Given the description of an element on the screen output the (x, y) to click on. 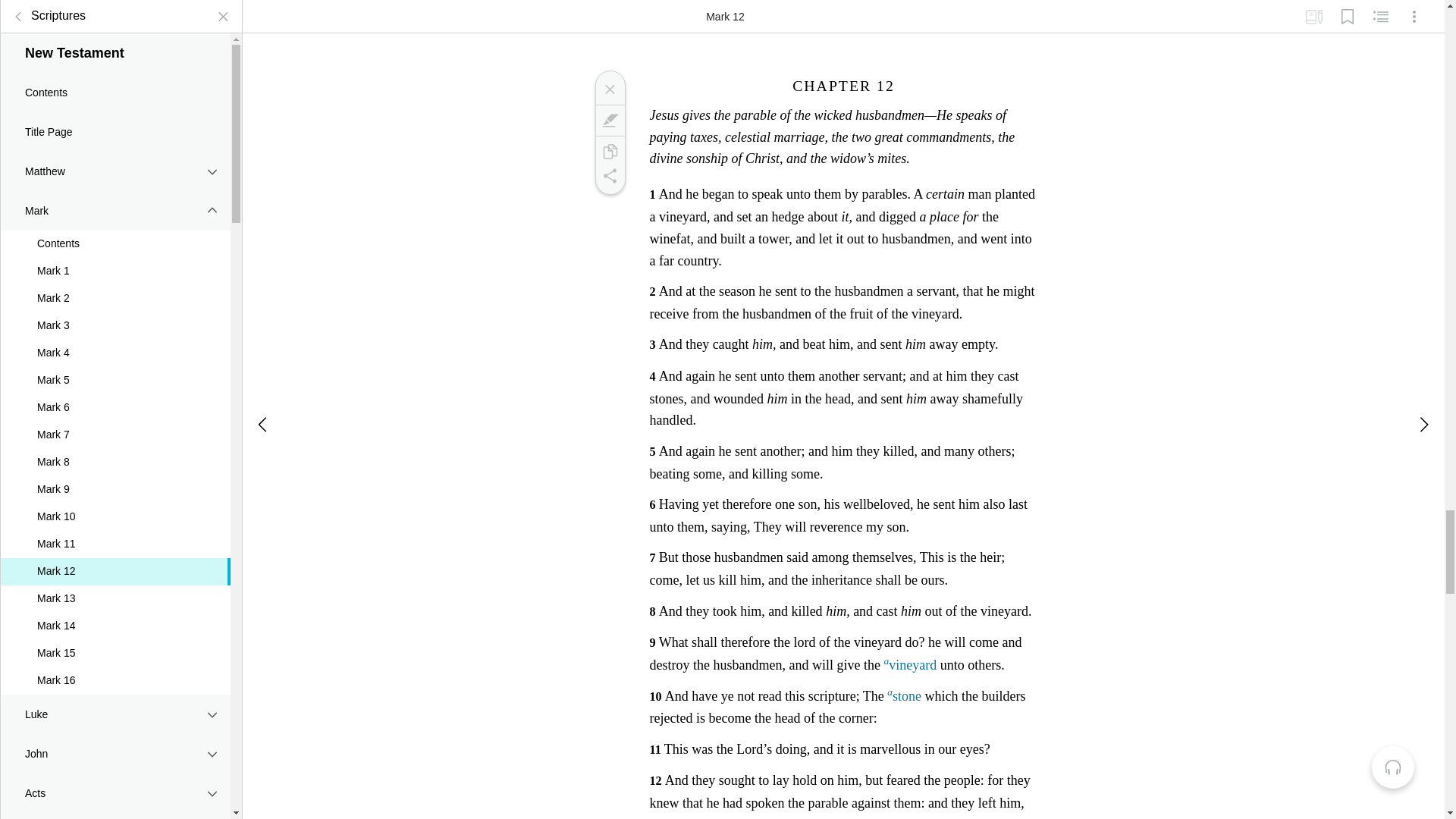
Mark 2 (115, 287)
Matthew (115, 159)
Mark 5 (115, 369)
Title Page (115, 120)
Mark 14 (115, 614)
Related Content (1380, 11)
Mark 12 (115, 560)
Share (608, 175)
John (115, 742)
Close (608, 88)
Mark (608, 120)
Mark 6 (115, 396)
Mark 13 (115, 587)
Mark 10 (115, 505)
Mark 1 (115, 259)
